Given the description of an element on the screen output the (x, y) to click on. 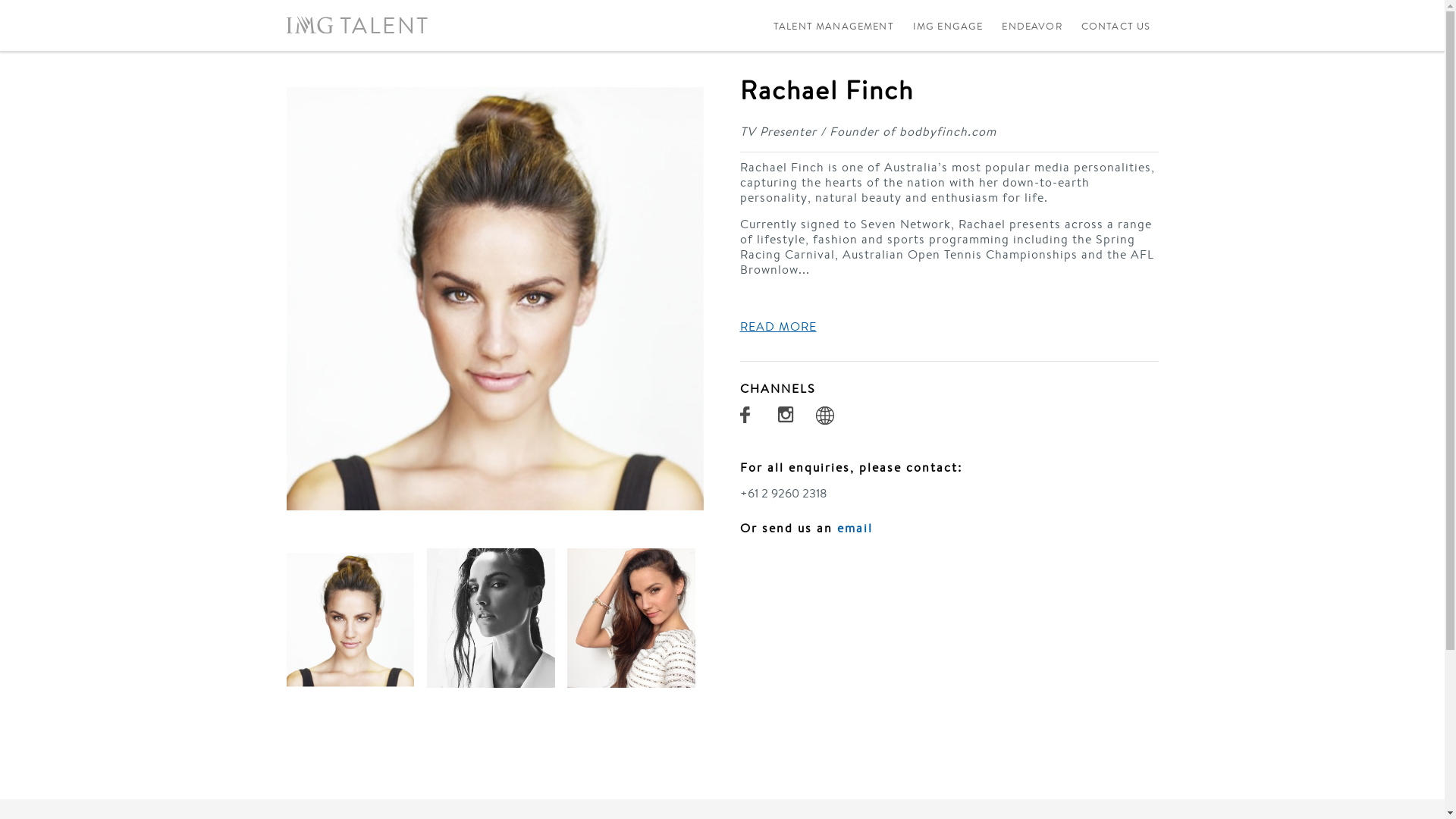
https://bodbyfinch.com/ Element type: hover (826, 417)
TALENT MANAGEMENT Element type: text (833, 25)
https://www.facebook.com/rachaelfinchofficial/?fref=nf Element type: hover (751, 417)
+61 2 9260 2318 Element type: text (783, 493)
email Element type: text (854, 528)
TALENT Element type: text (357, 24)
READ MORE Element type: text (778, 326)
IMG ENGAGE Element type: text (948, 25)
https://www.instagram.com/rachael_finch/?hl=en Element type: hover (789, 417)
CONTACT US Element type: text (1116, 25)
ENDEAVOR Element type: text (1031, 25)
